Given the description of an element on the screen output the (x, y) to click on. 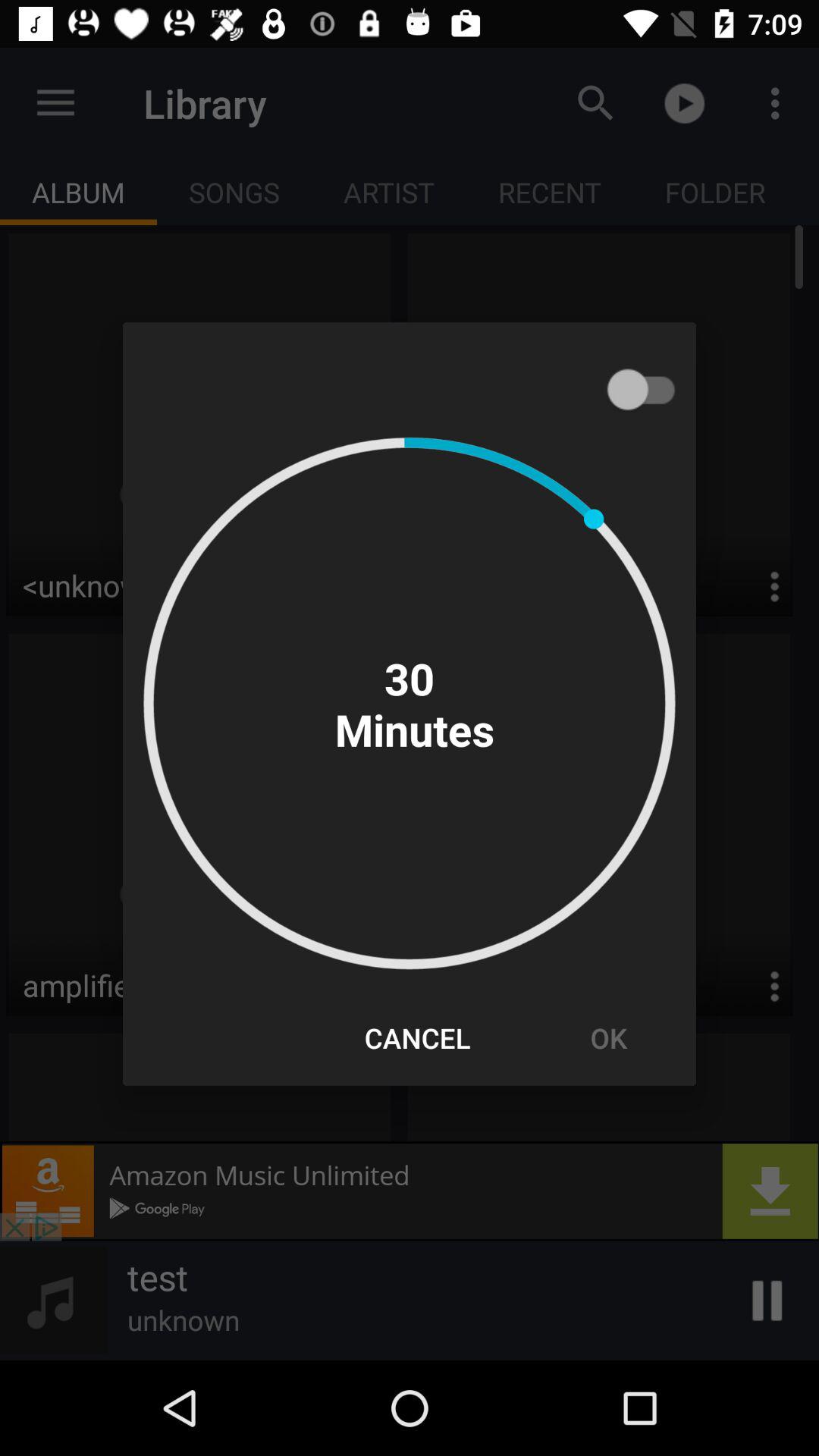
open the item next to the cancel icon (608, 1037)
